Given the description of an element on the screen output the (x, y) to click on. 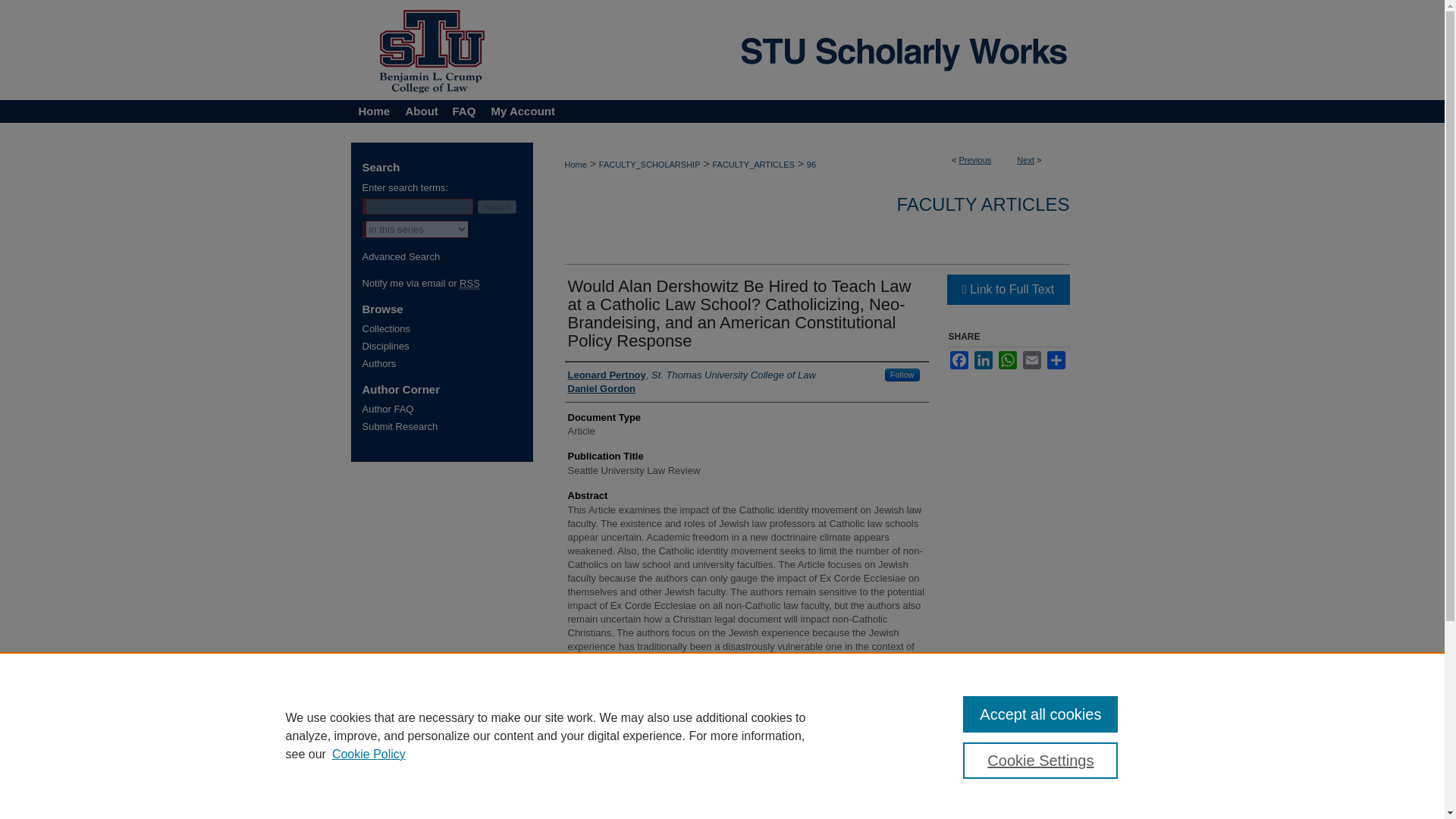
Home (373, 110)
Previous (975, 159)
Search (496, 206)
Email (1031, 360)
Browse by Disciplines (447, 346)
Submit Research (447, 426)
Search (496, 206)
LinkedIn (982, 360)
My Account (518, 110)
About (419, 110)
Follow (902, 374)
FACULTY ARTICLES (982, 204)
Follow Leonard Pertnoy (902, 374)
96 (810, 163)
Collections (447, 328)
